Given the description of an element on the screen output the (x, y) to click on. 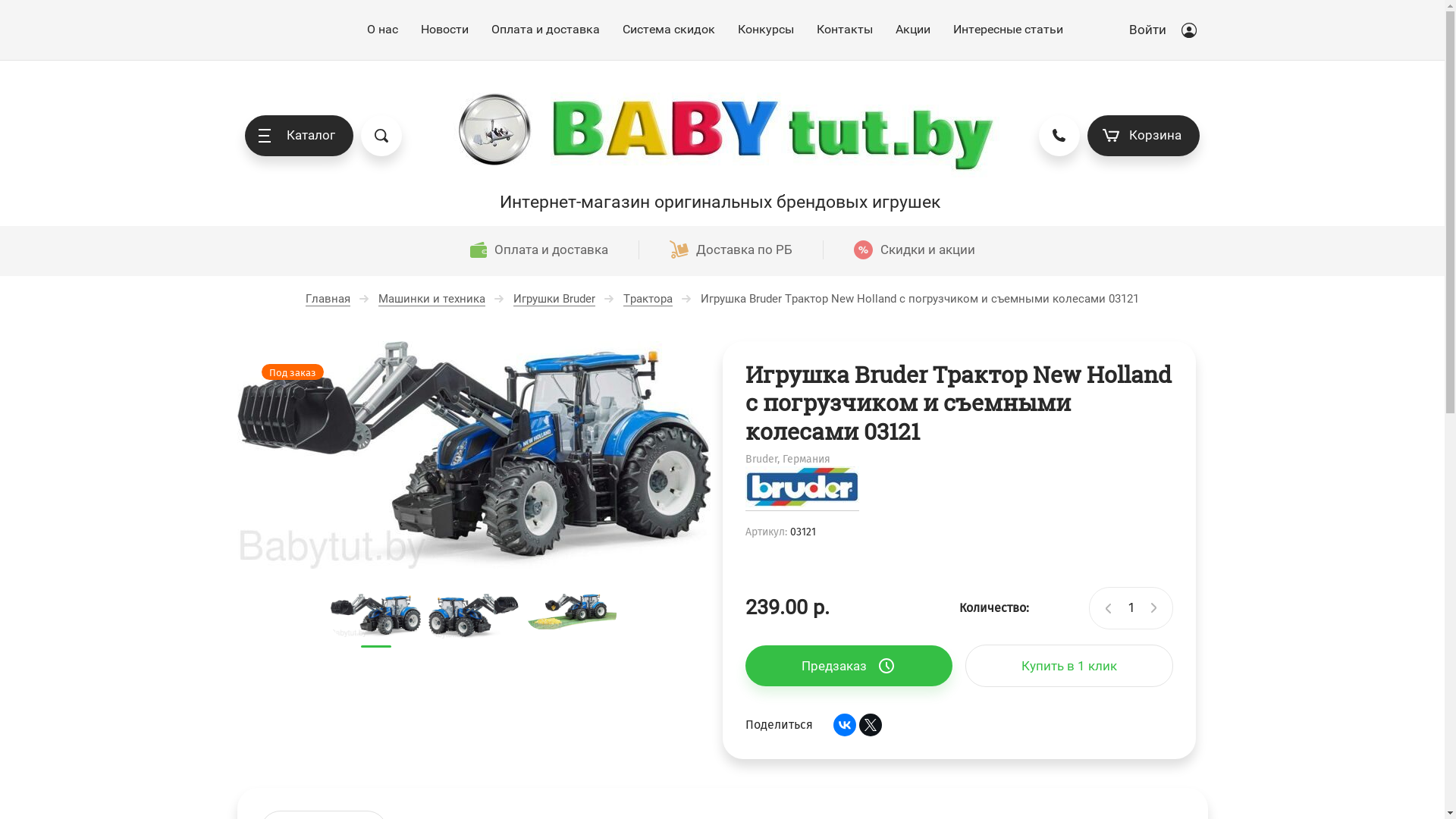
+ Element type: text (1154, 607)
Twitter Element type: hover (869, 724)
